Given the description of an element on the screen output the (x, y) to click on. 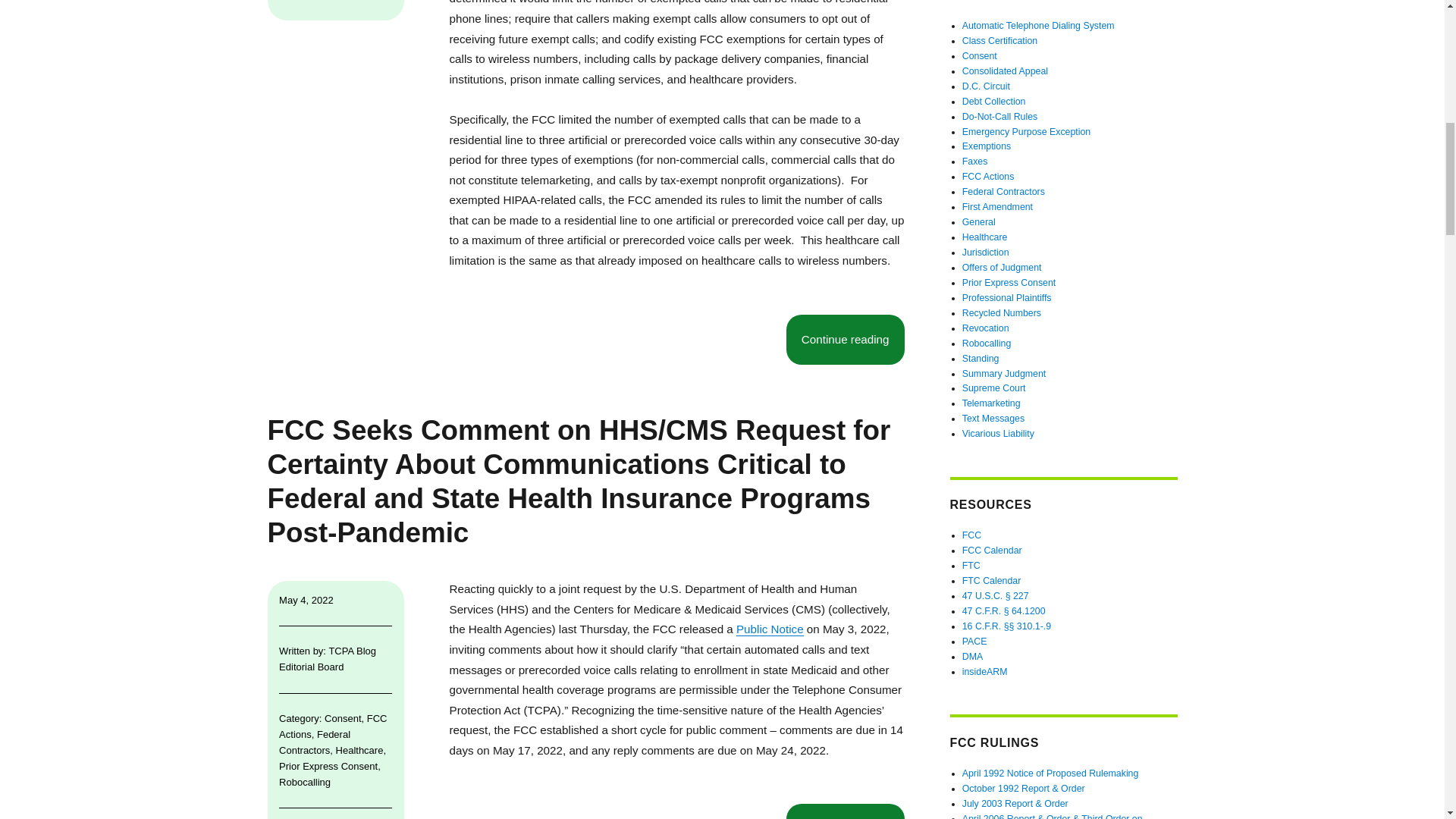
Healthcare (360, 749)
Consent (342, 717)
Posts by TCPA Blog Editorial Board (327, 658)
Prior Express Consent (328, 766)
Robocalling (304, 781)
Public Notice (769, 628)
Federal Contractors (314, 741)
FCC Actions (333, 726)
TCPA Blog Editorial Board (327, 658)
